Given the description of an element on the screen output the (x, y) to click on. 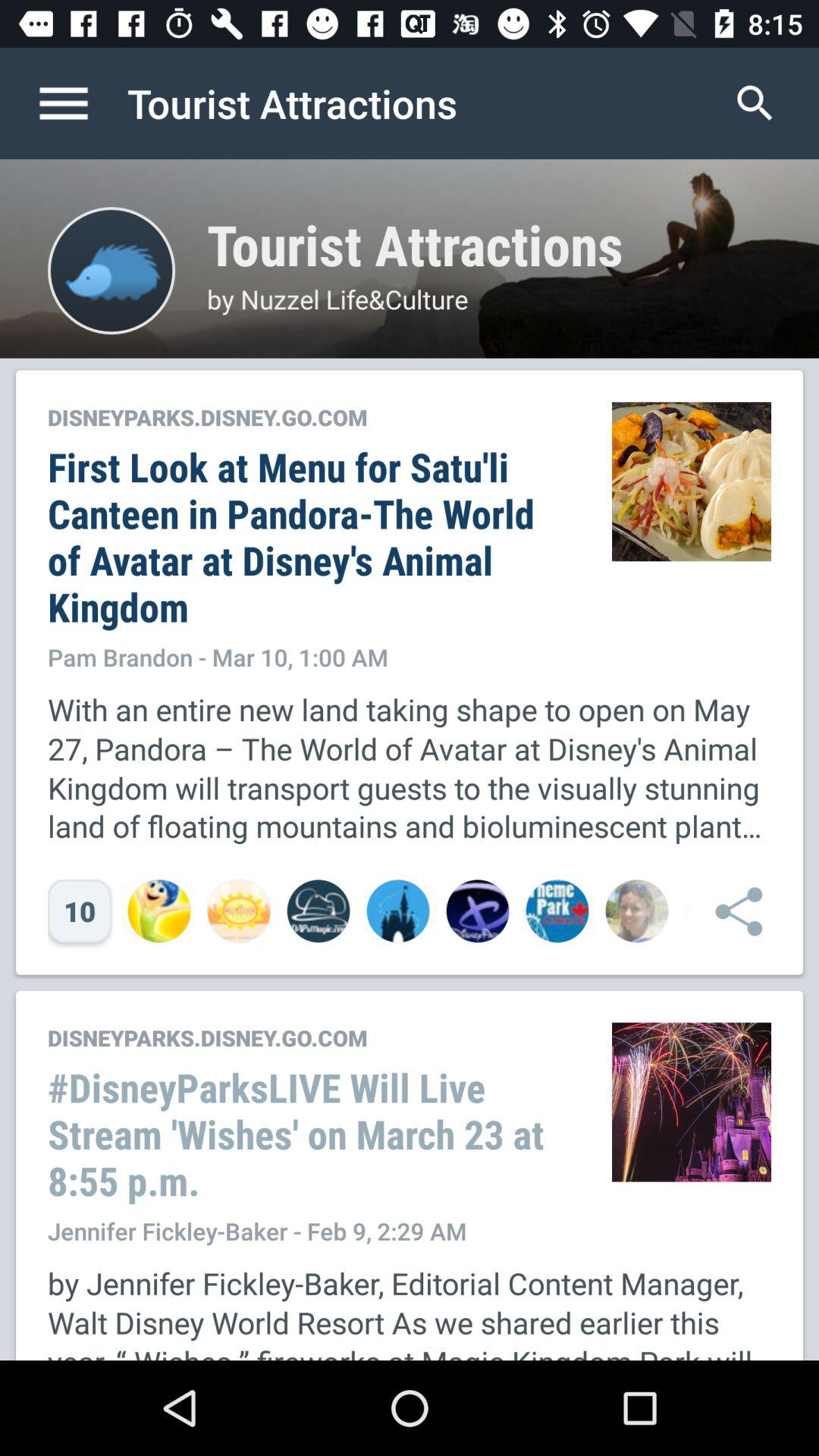
menu button (79, 103)
